Given the description of an element on the screen output the (x, y) to click on. 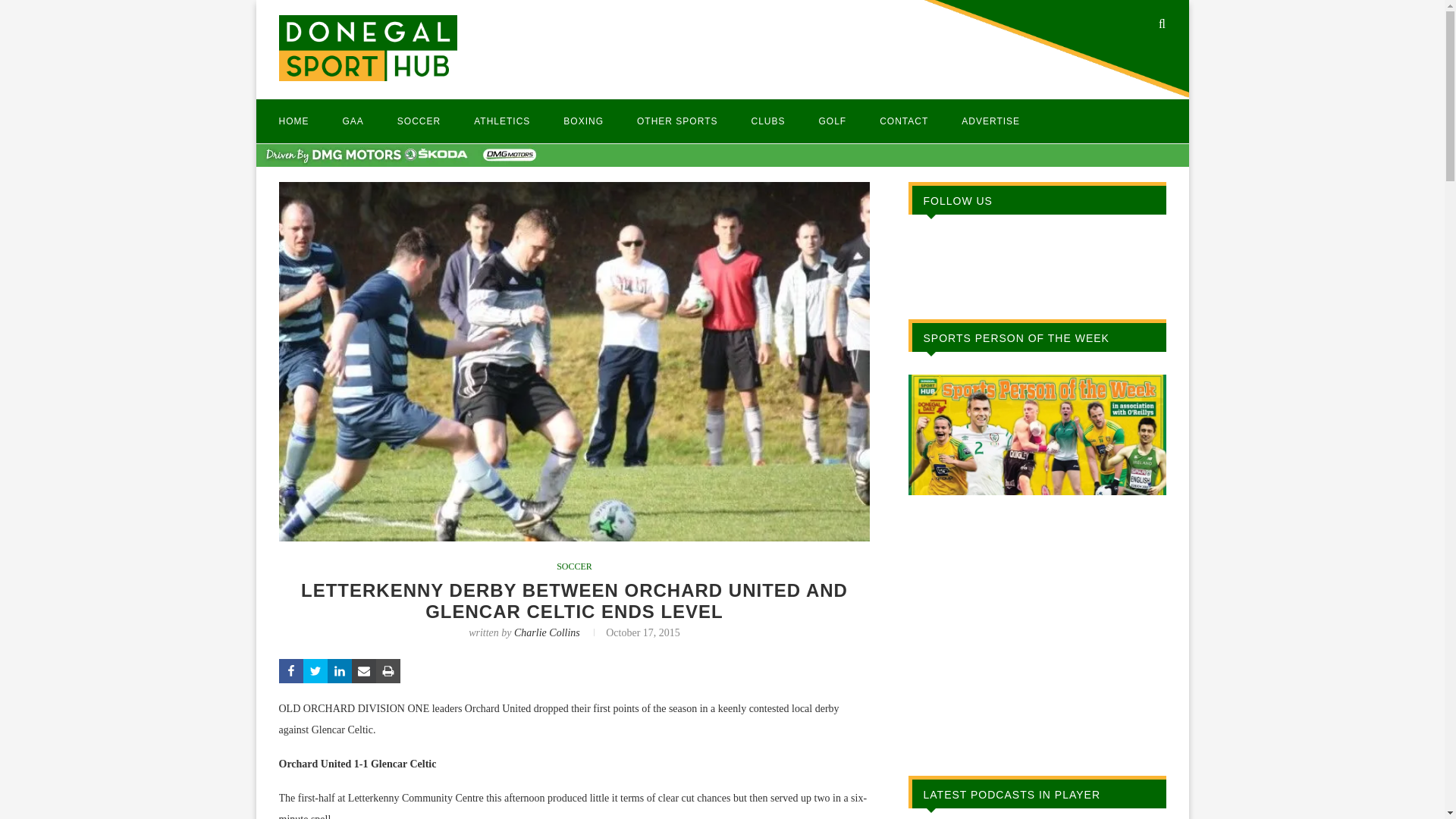
Print this Page (387, 671)
ATHLETICS (501, 121)
OTHER SPORTS (677, 121)
Share on Facebook (290, 671)
CONTACT (903, 121)
Share on Twitter (314, 671)
BOXING (583, 121)
Charlie Collins (546, 632)
SOCCER (419, 121)
ADVERTISE (990, 121)
